Given the description of an element on the screen output the (x, y) to click on. 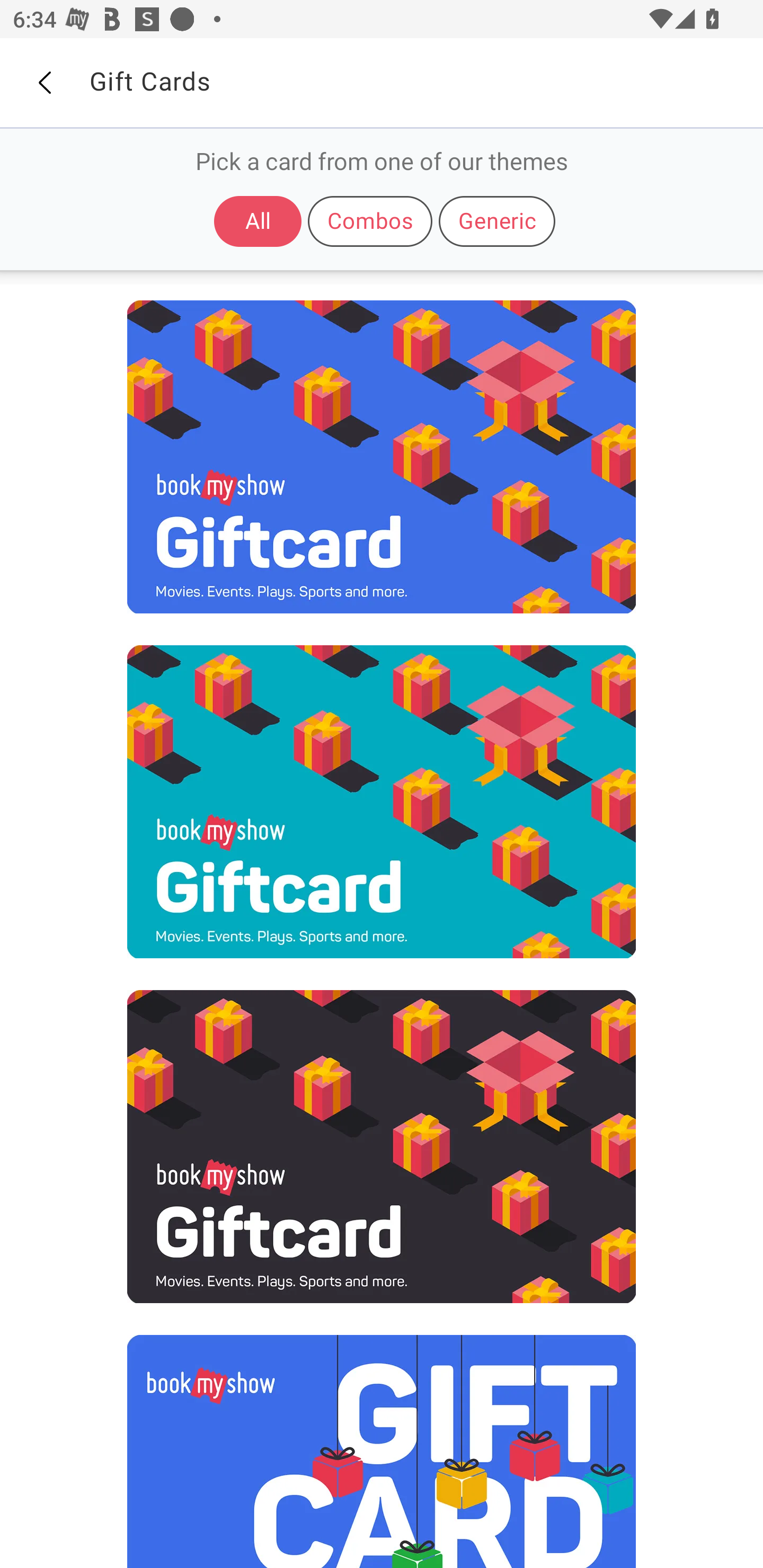
Back (44, 82)
  All   (257, 221)
Combos (369, 221)
Generic (496, 221)
